Given the description of an element on the screen output the (x, y) to click on. 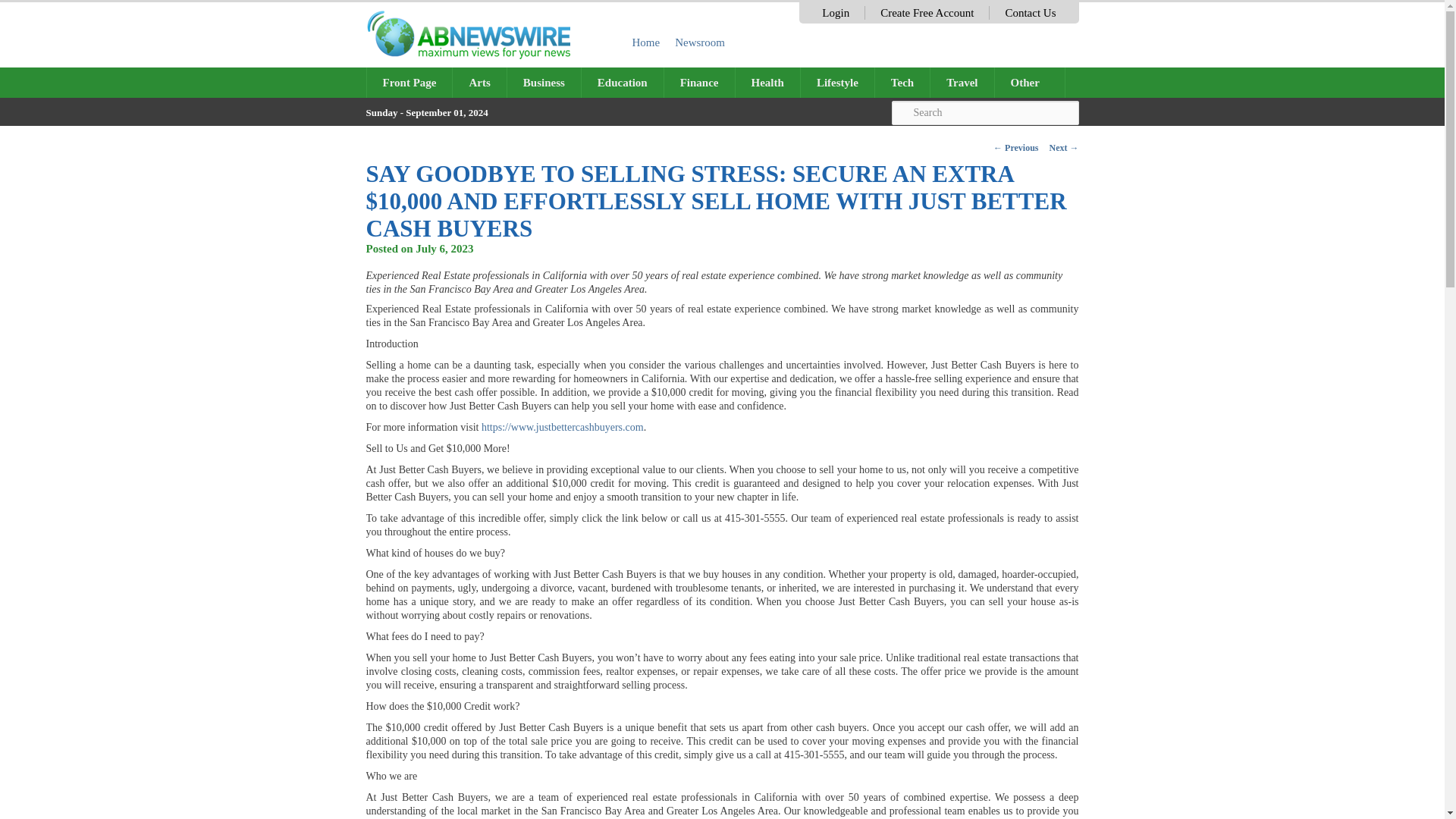
Search (984, 112)
Lifestyle (836, 82)
Business (544, 82)
Tech (901, 82)
Front Page (409, 82)
Finance (698, 82)
Search (984, 112)
Create Free Account (926, 12)
Travel (961, 82)
Home (646, 42)
